Given the description of an element on the screen output the (x, y) to click on. 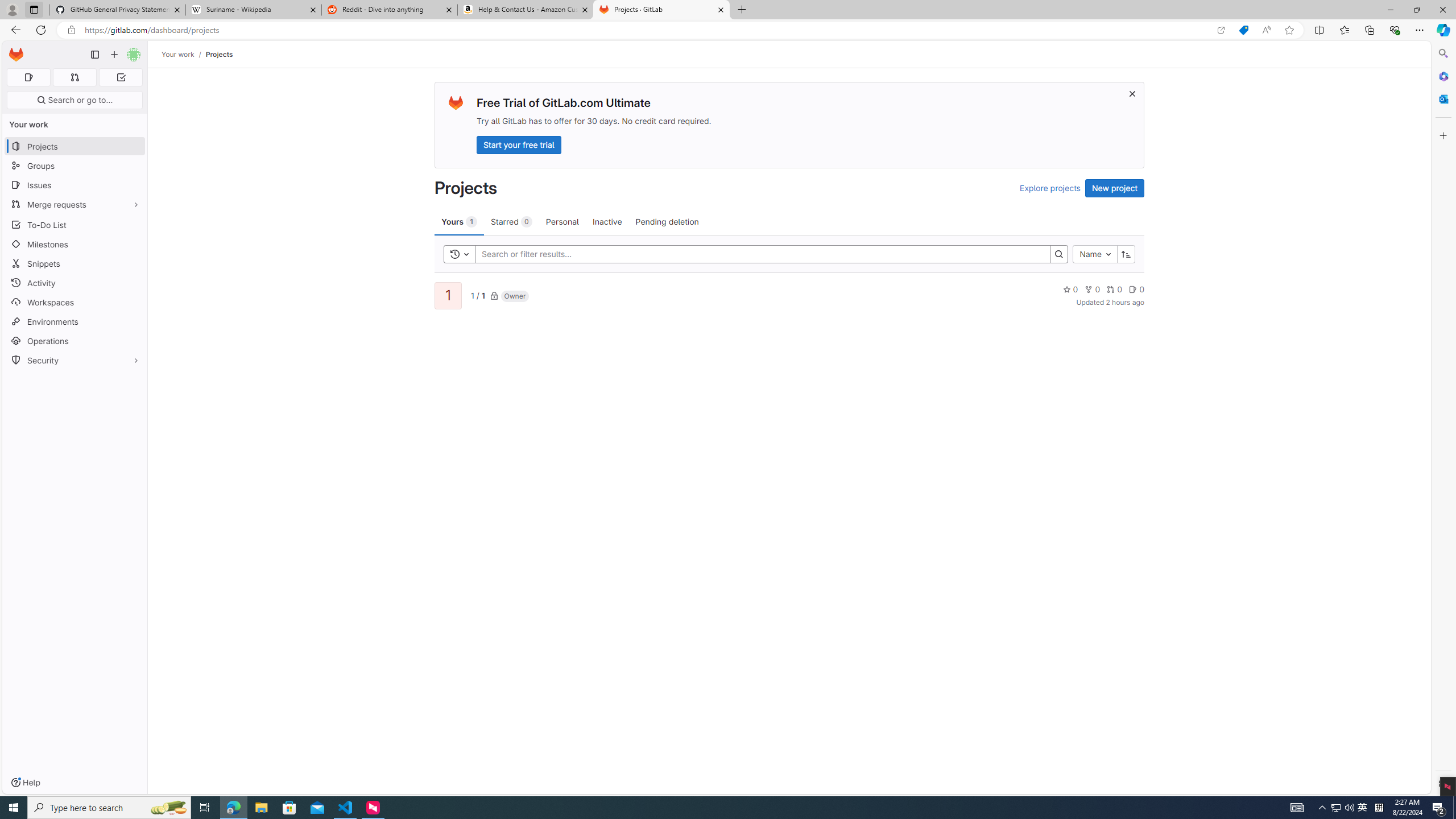
To-Do List (74, 224)
Snippets (74, 262)
Activity (74, 282)
Pending deletion (667, 221)
Explore projects (1049, 187)
Activity (74, 282)
Class: s16 gl-icon gl-button-icon  (1132, 93)
Create new... (113, 54)
